Given the description of an element on the screen output the (x, y) to click on. 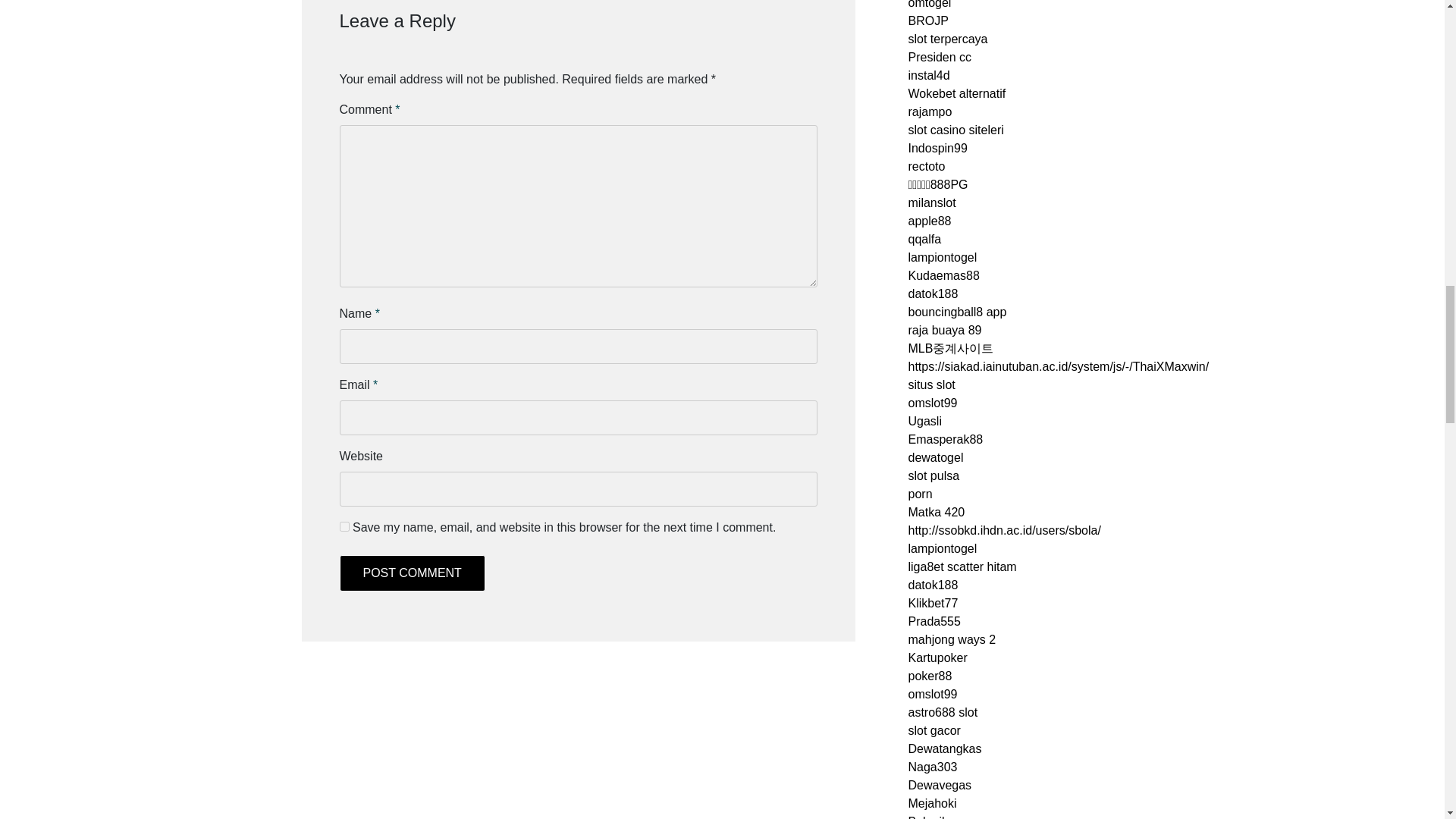
yes (344, 526)
Post Comment (411, 573)
Post Comment (411, 573)
